Given the description of an element on the screen output the (x, y) to click on. 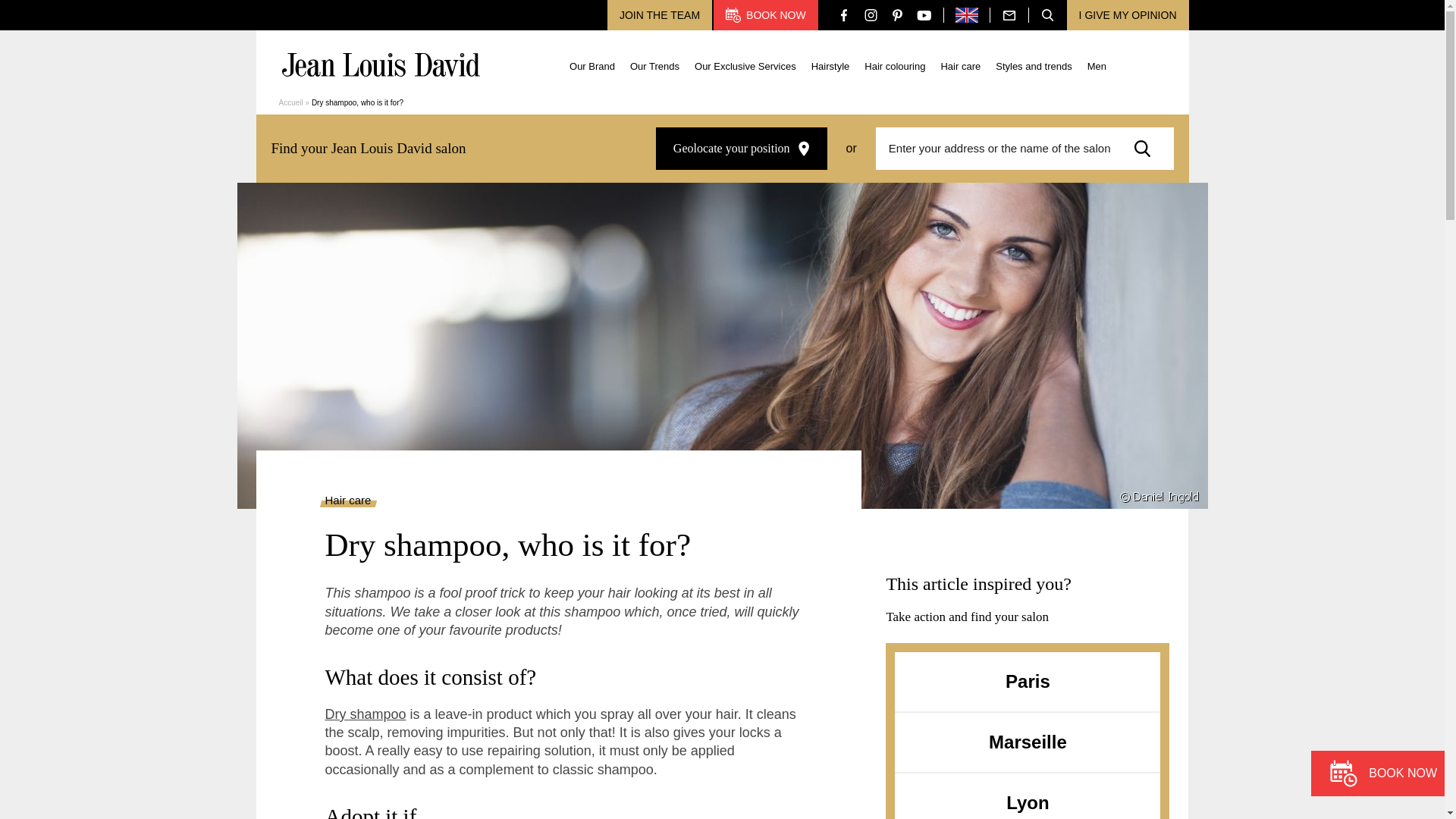
Facebook (844, 14)
Accueil (290, 102)
Our Exclusive Services (745, 64)
Hair colouring (895, 64)
Rechercher (1146, 148)
Pinterest (897, 14)
Instagram (870, 14)
Hair care (960, 64)
BOOK NOW (765, 15)
Men (1096, 64)
